Given the description of an element on the screen output the (x, y) to click on. 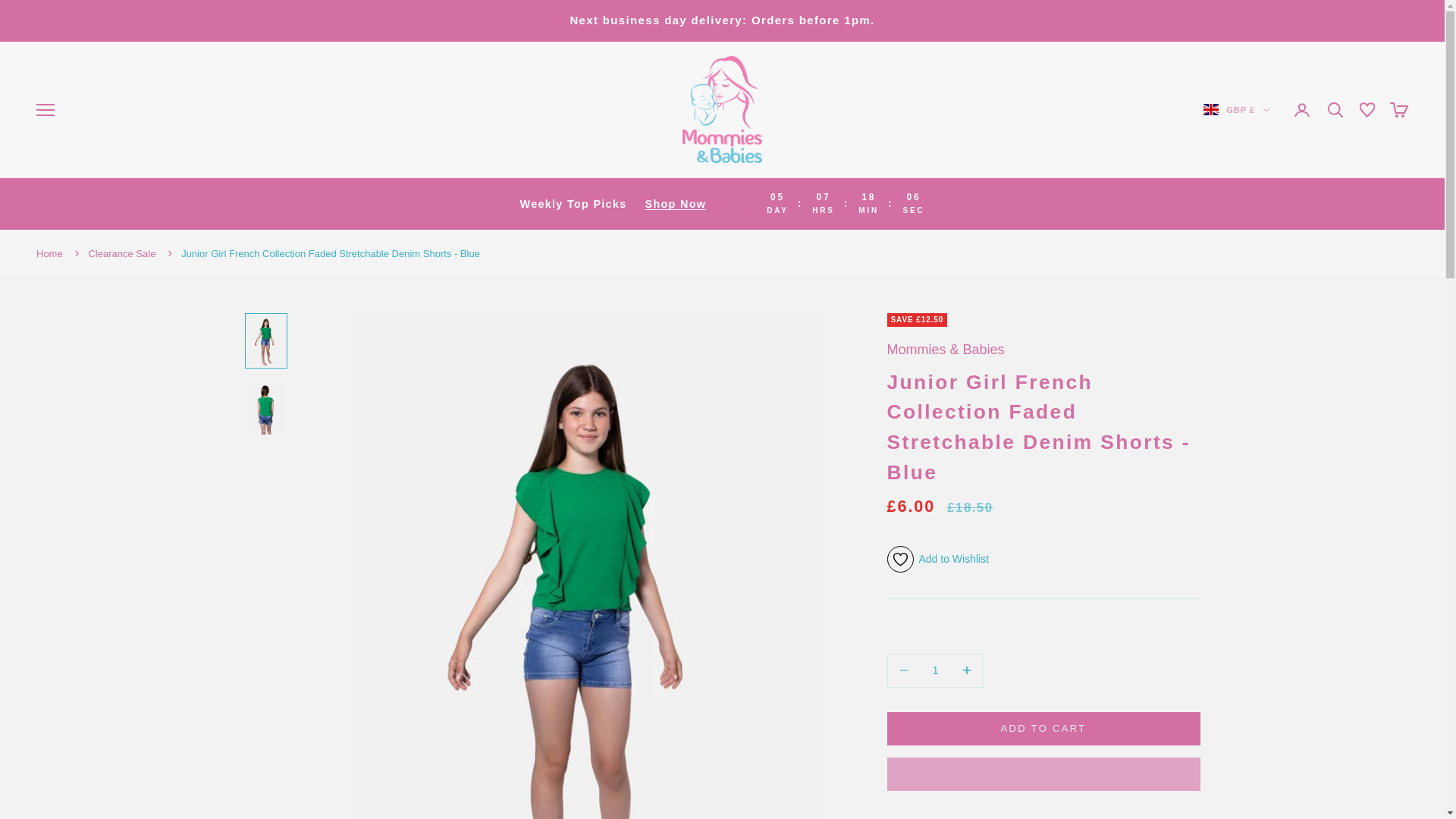
Home (49, 253)
Clearance Sale (121, 253)
1 (935, 670)
Open navigation menu (45, 109)
